Given the description of an element on the screen output the (x, y) to click on. 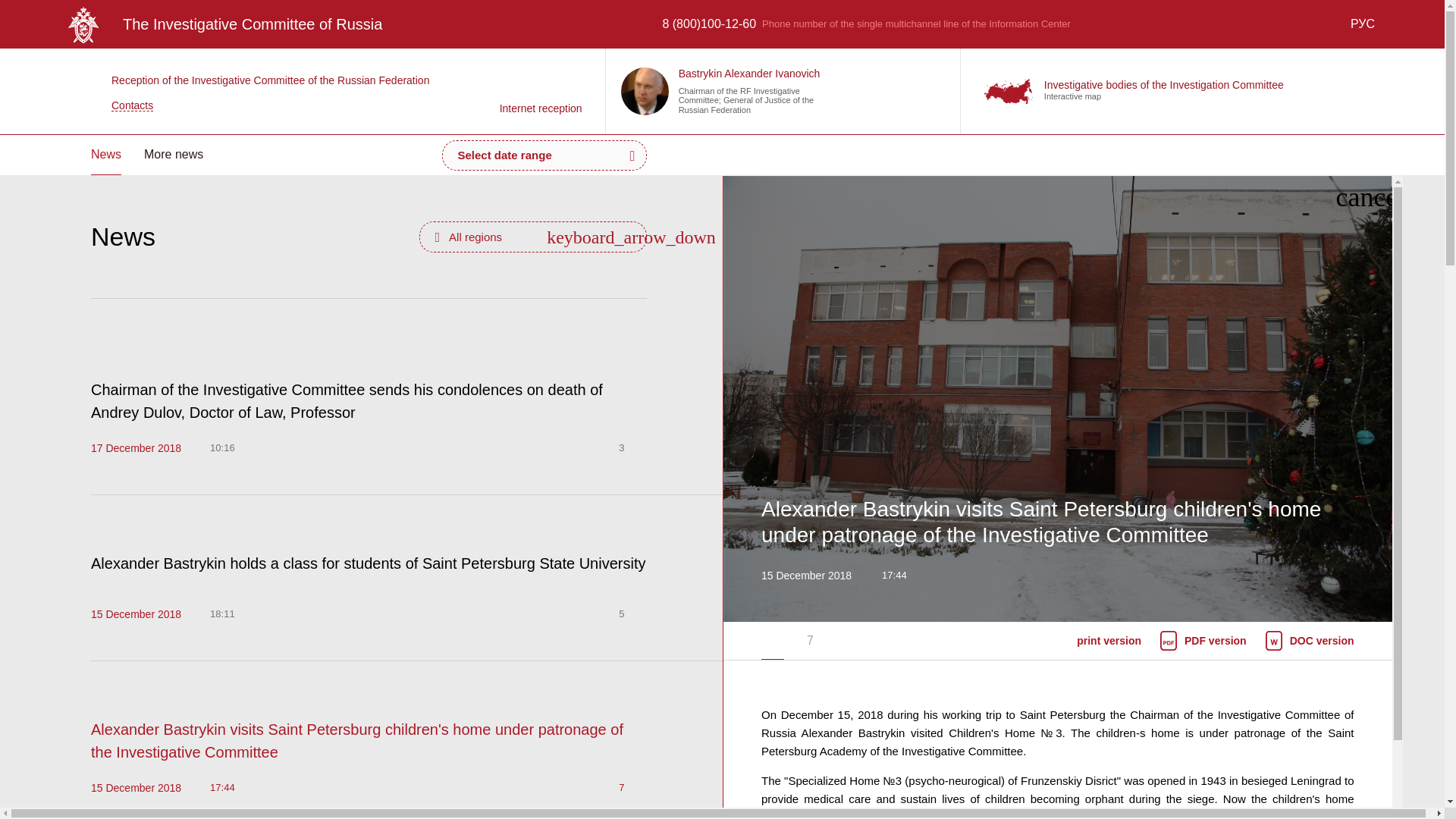
News (105, 154)
Internet reception (540, 90)
Contacts (259, 105)
3 (632, 447)
The Investigative Committee of Russia (224, 23)
Close (1370, 196)
Investigative bodies of the Investigation Committee (1163, 84)
Bastrykin Alexander Ivanovich (749, 73)
More news (173, 154)
